Given the description of an element on the screen output the (x, y) to click on. 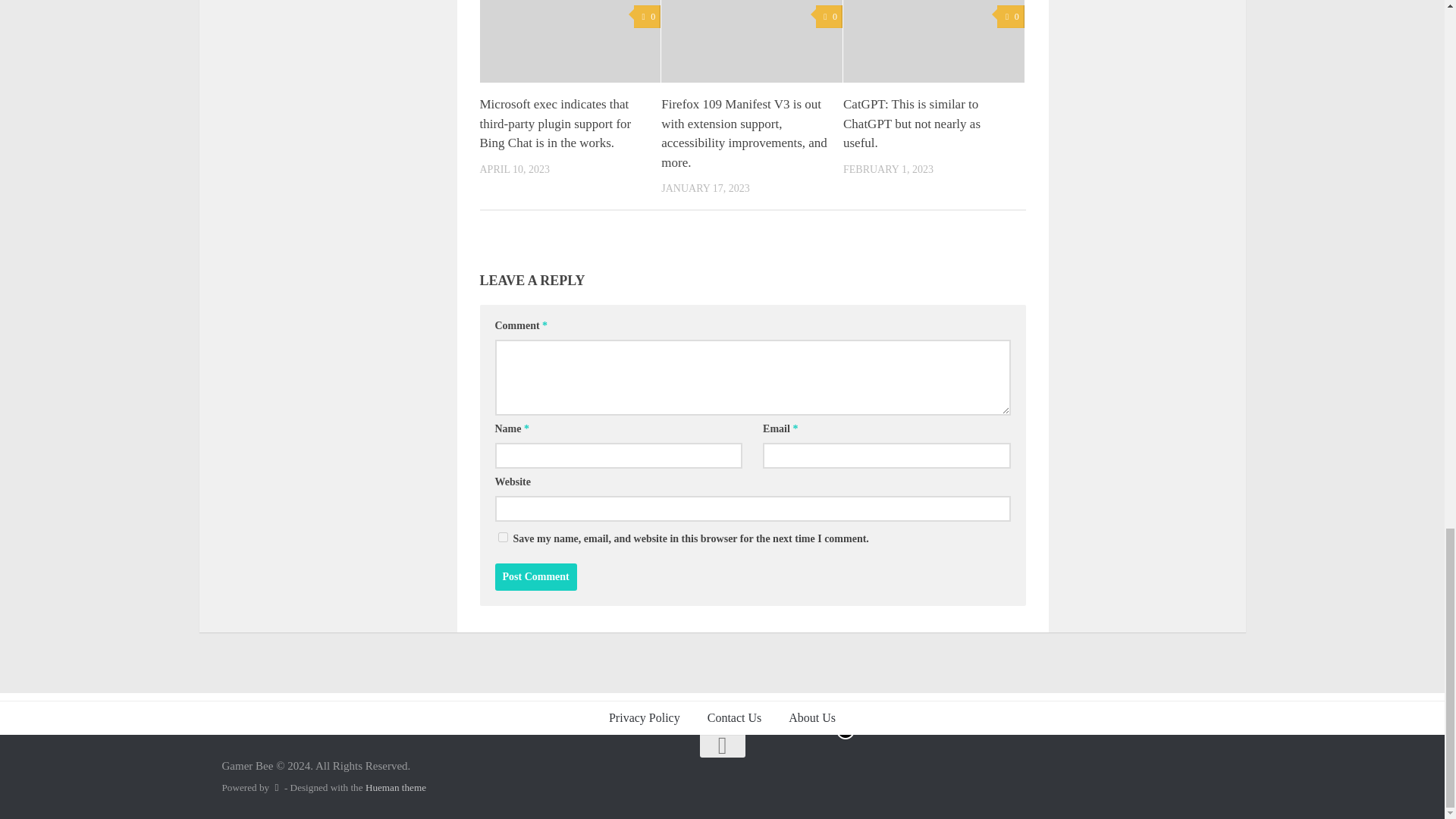
Hueman theme (395, 787)
Hueman theme (395, 787)
yes (501, 537)
About Us (811, 717)
Powered by WordPress (275, 787)
CatGPT: This is similar to ChatGPT but not nearly as useful. (911, 123)
0 (829, 16)
Privacy Policy (644, 717)
Post Comment (535, 576)
0 (647, 16)
Post Comment (535, 576)
Contact Us (735, 717)
0 (1010, 16)
